Given the description of an element on the screen output the (x, y) to click on. 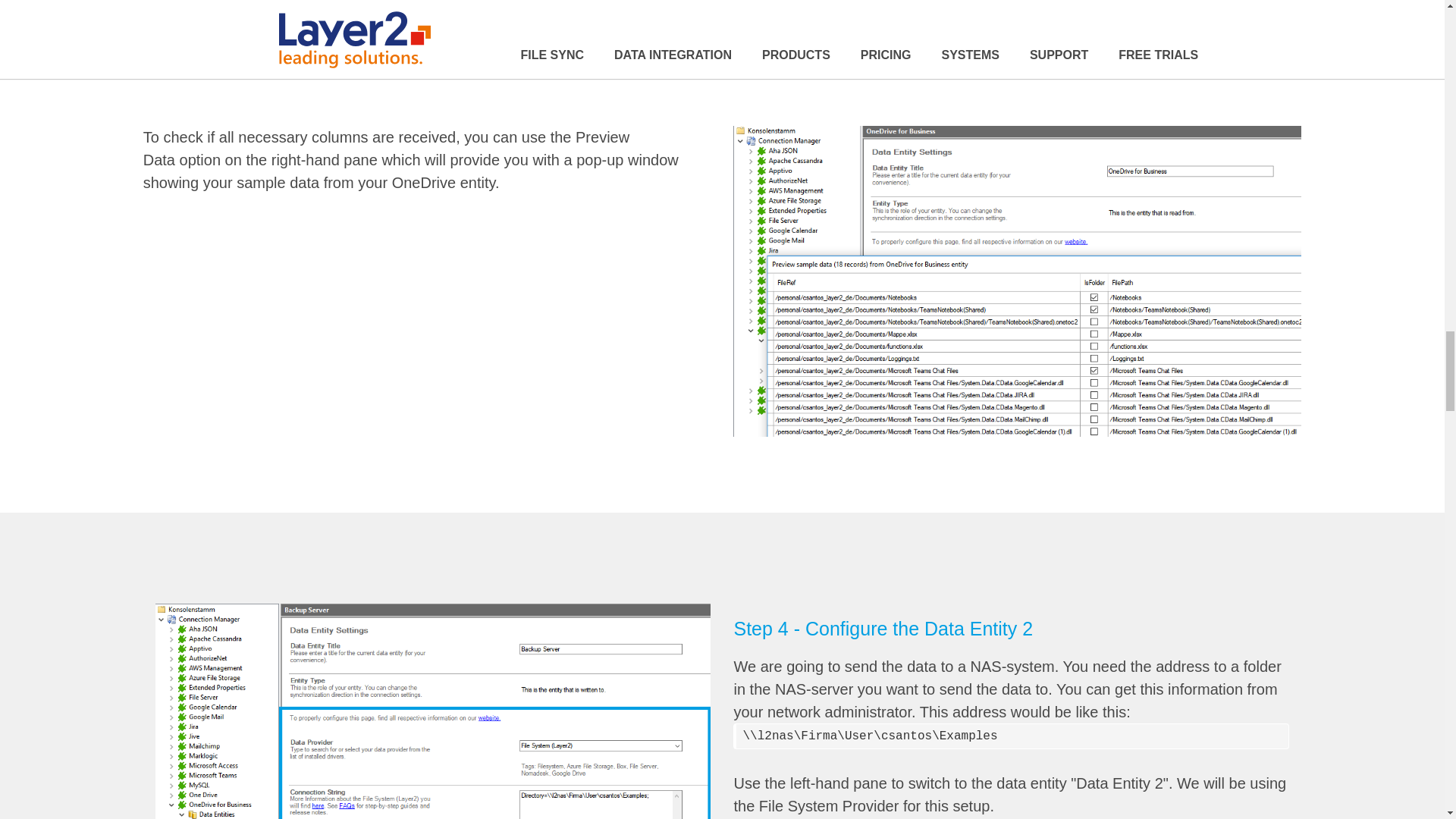
Step 3 OneDrive integration target setup (432, 711)
